Given the description of an element on the screen output the (x, y) to click on. 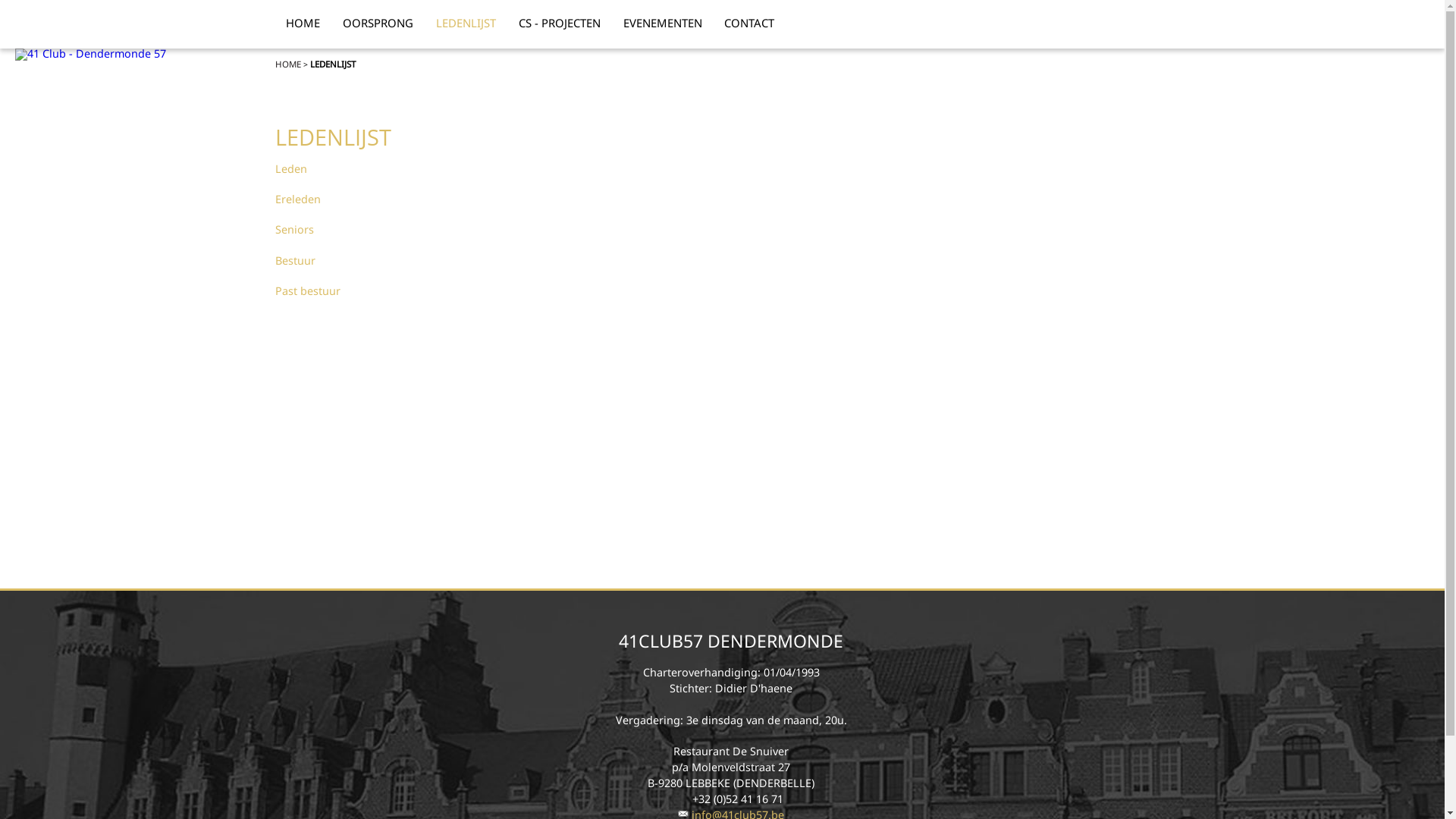
Leden Element type: text (290, 168)
Seniors Element type: text (293, 229)
HOME Element type: text (287, 63)
CONTACT Element type: text (749, 25)
Bestuur Element type: text (294, 260)
LEDENLIJST Element type: text (331, 63)
CS - PROJECTEN Element type: text (559, 25)
Ereleden Element type: text (297, 198)
HOME Element type: text (302, 25)
41 Club - Dendermonde 57 Element type: hover (90, 54)
OORSPRONG Element type: text (377, 25)
LEDENLIJST Element type: text (465, 25)
EVENEMENTEN Element type: text (662, 25)
Past bestuur Element type: text (306, 290)
